Given the description of an element on the screen output the (x, y) to click on. 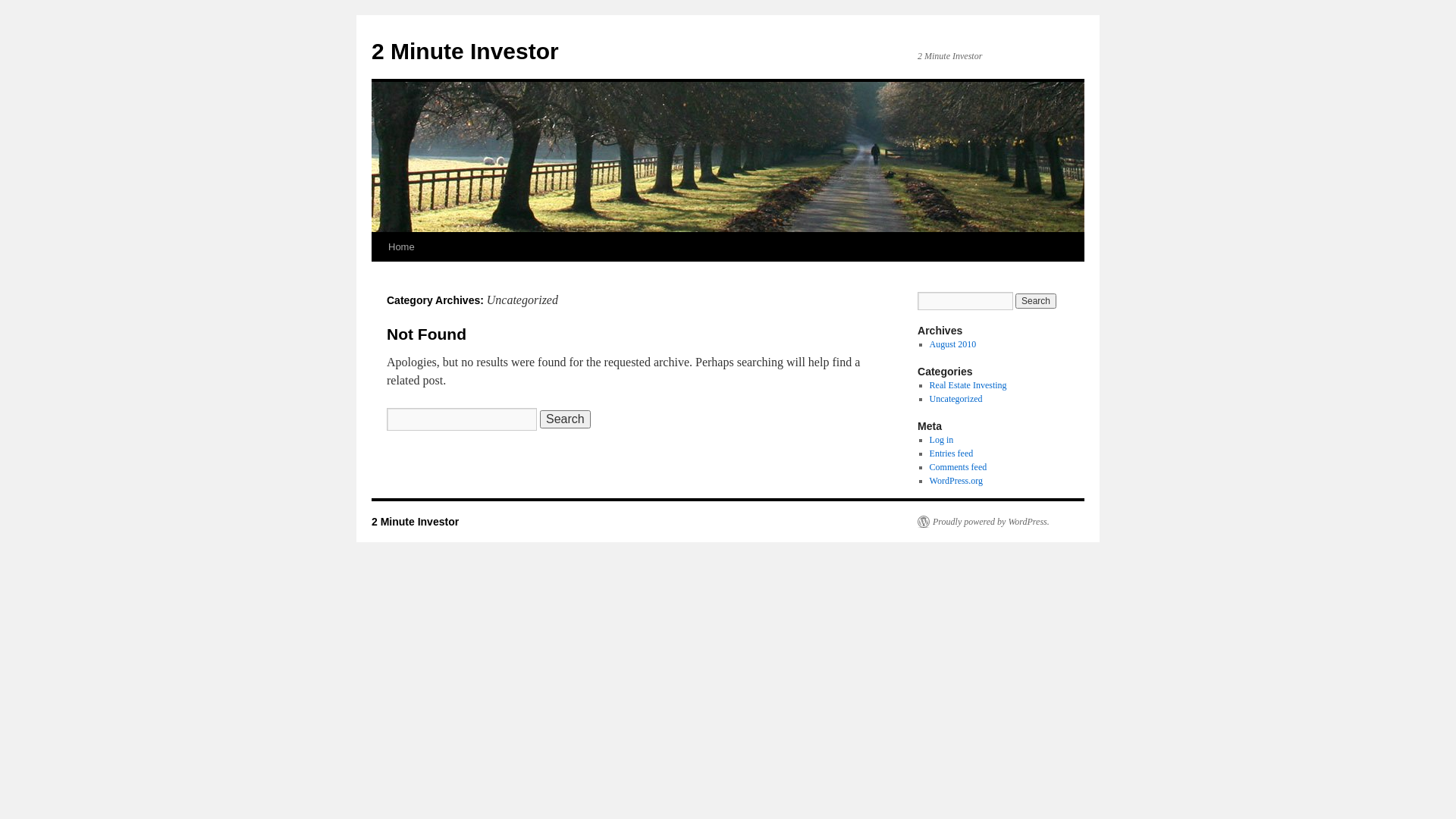
WordPress.org Element type: text (955, 480)
Log in Element type: text (941, 439)
Comments feed Element type: text (958, 466)
Entries feed Element type: text (951, 453)
Skip to content Element type: text (378, 275)
Proudly powered by WordPress. Element type: text (983, 521)
Search Element type: text (1035, 300)
2 Minute Investor Element type: text (464, 50)
August 2010 Element type: text (952, 343)
Uncategorized Element type: text (955, 398)
Home Element type: text (401, 246)
2 Minute Investor Element type: text (414, 521)
Real Estate Investing Element type: text (968, 384)
Search Element type: text (564, 419)
